Given the description of an element on the screen output the (x, y) to click on. 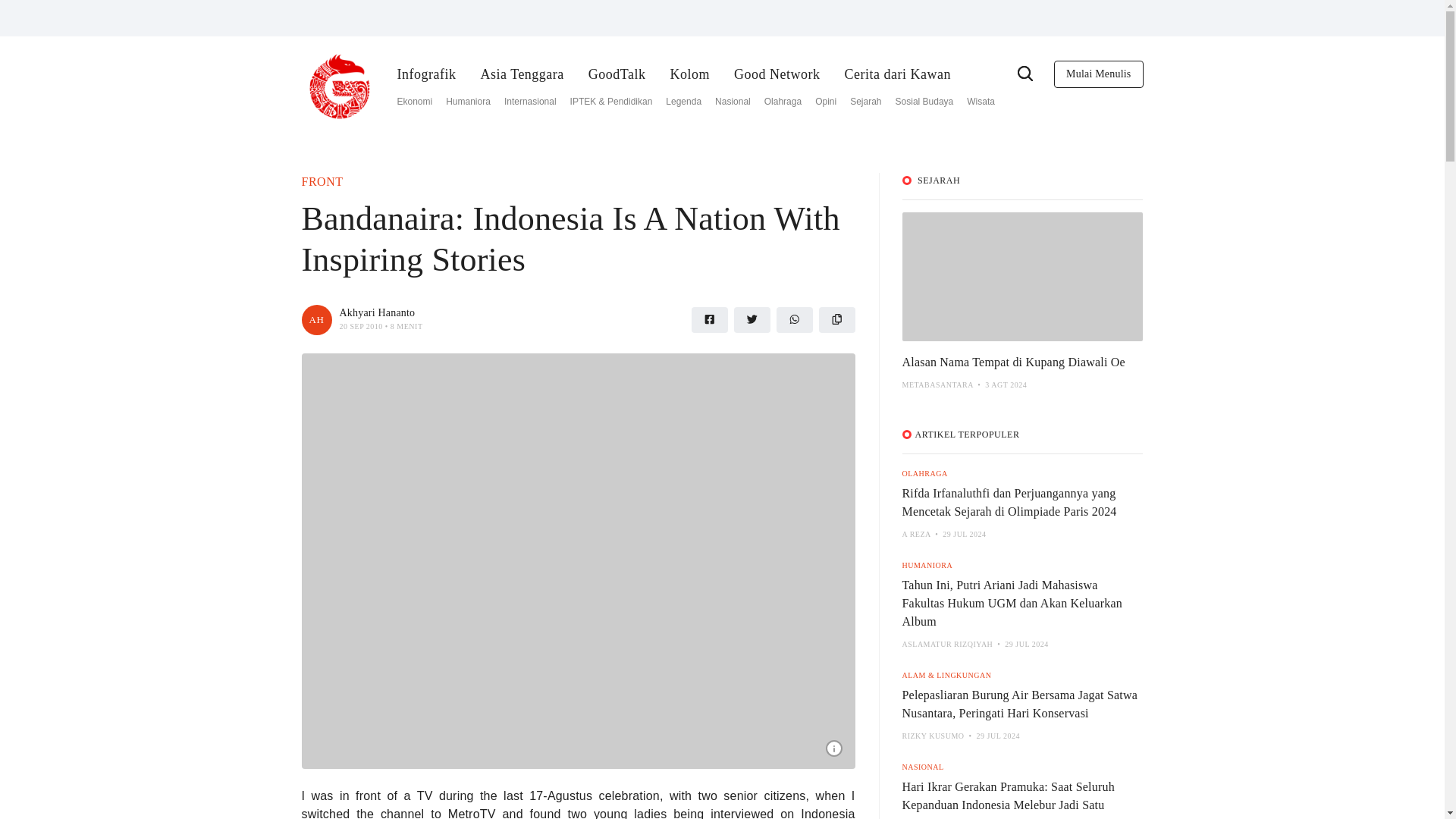
Olahraga (783, 101)
HUMANIORA (927, 565)
Internasional (529, 101)
Mulai Menulis (1098, 73)
Nasional (732, 101)
Ekonomi (414, 101)
Cerita dari Kawan (897, 73)
Infografik (427, 73)
Sejarah (865, 101)
Akhyari Hananto (316, 319)
Humaniora (467, 101)
Legenda (683, 101)
Alasan Nama Tempat di Kupang Diawali Oe (1013, 361)
SEJARAH (938, 180)
Opini (825, 101)
